Given the description of an element on the screen output the (x, y) to click on. 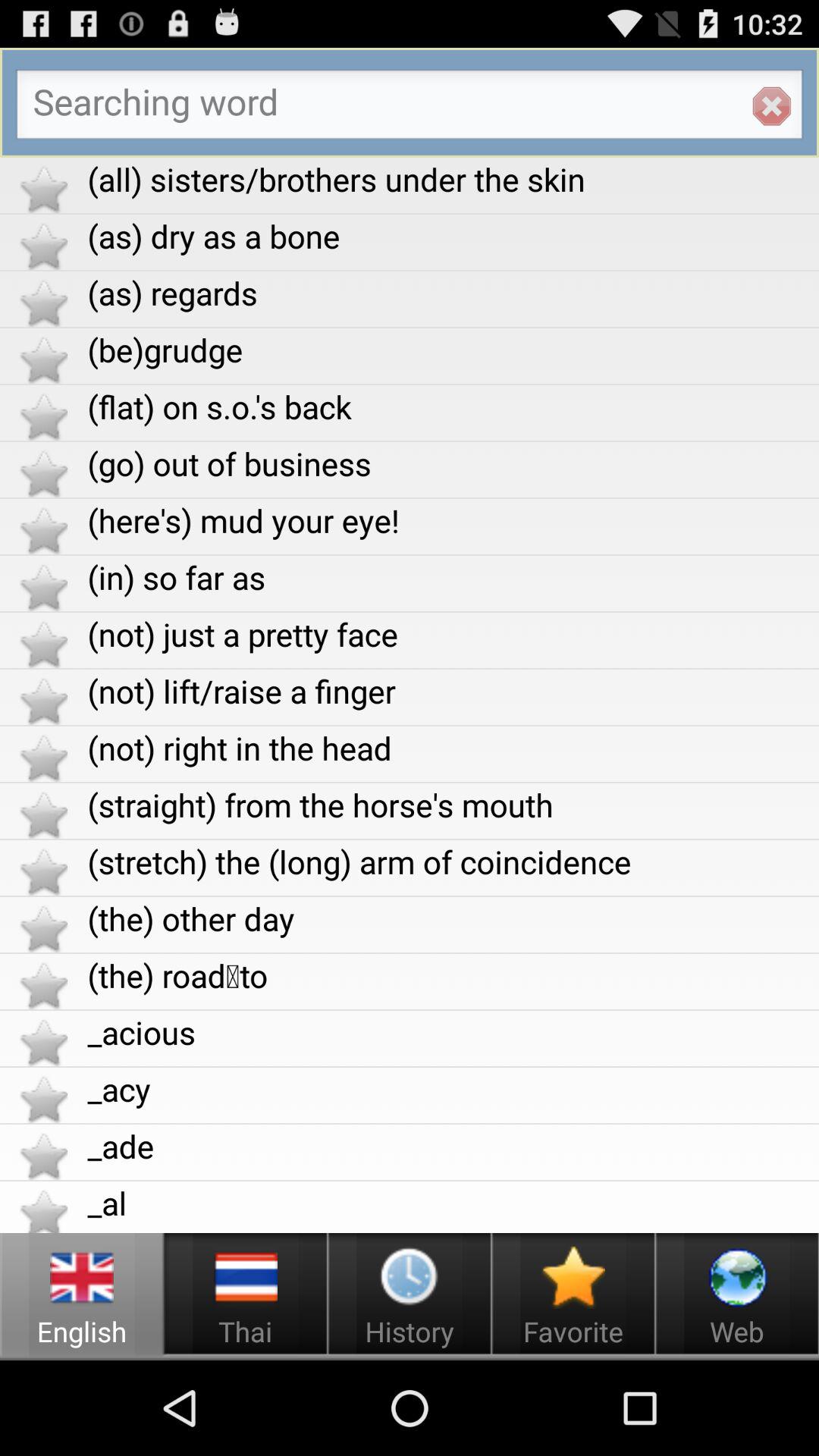
clear search (771, 106)
